Given the description of an element on the screen output the (x, y) to click on. 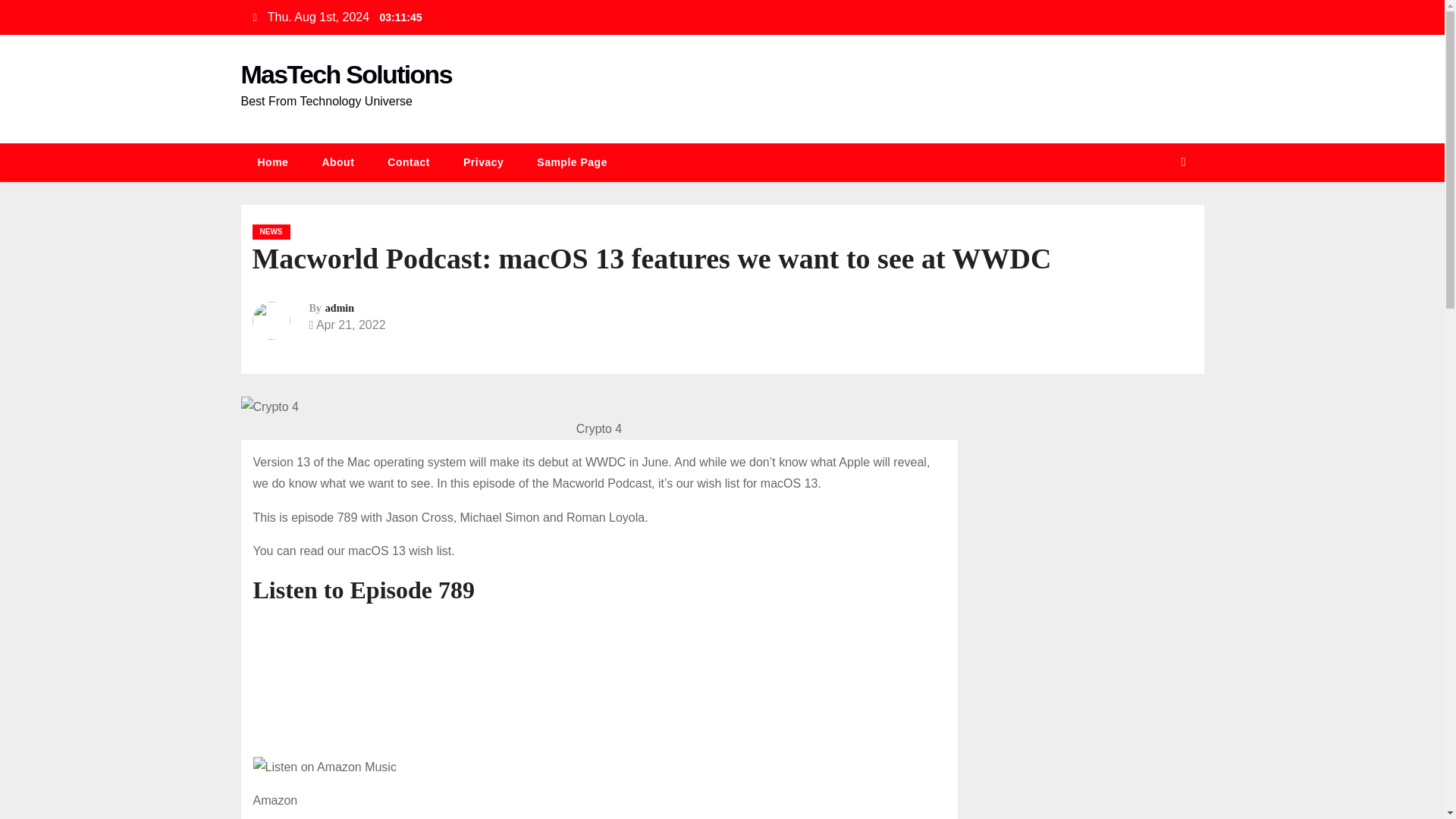
Home (273, 162)
Sample Page (571, 162)
NEWS (270, 231)
Spotify Embed: Episode 789: A macOS 13 wishlist (598, 679)
Contact (408, 162)
admin (338, 307)
About (337, 162)
MasTech Solutions (346, 73)
Home (273, 162)
Privacy (482, 162)
